Given the description of an element on the screen output the (x, y) to click on. 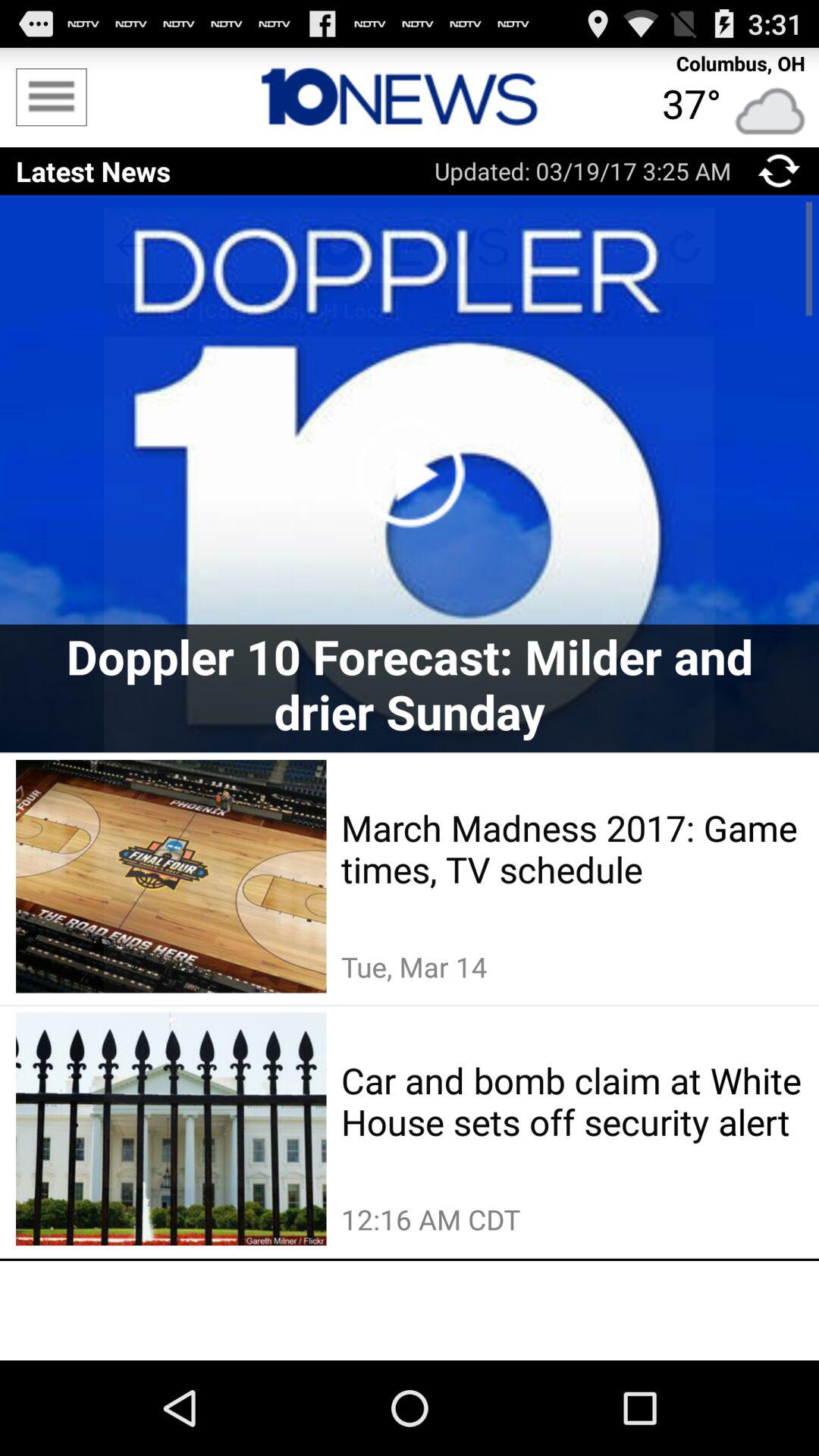
go to (779, 171)
